Given the description of an element on the screen output the (x, y) to click on. 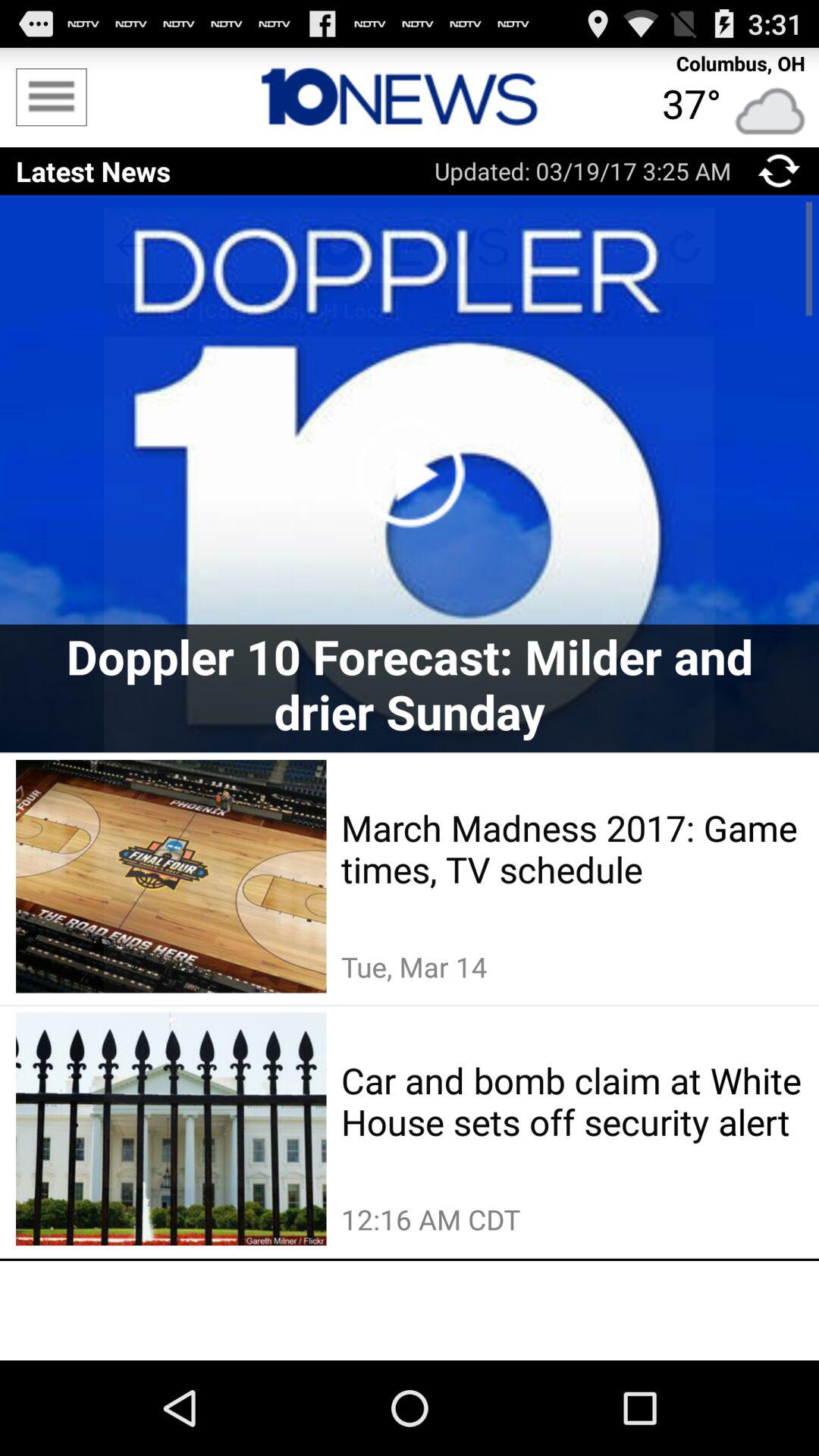
go to (779, 171)
